Given the description of an element on the screen output the (x, y) to click on. 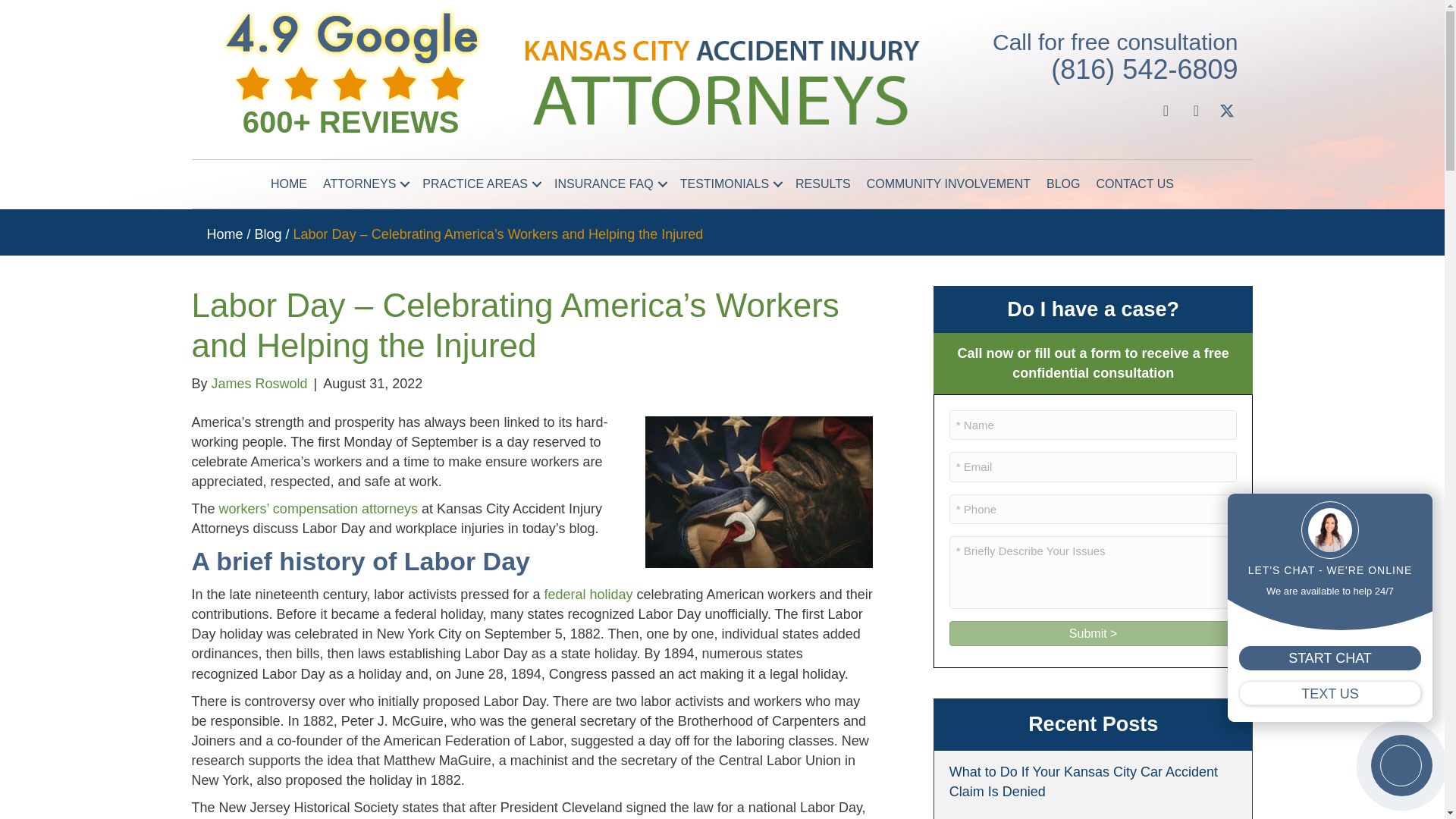
HOME (288, 183)
Facebook (1165, 110)
ATTORNEYS (364, 183)
YouTube (1196, 110)
PRACTICE AREAS (480, 183)
INSURANCE FAQ (609, 183)
Kansas City Accident Injury Attorneys (721, 82)
